Given the description of an element on the screen output the (x, y) to click on. 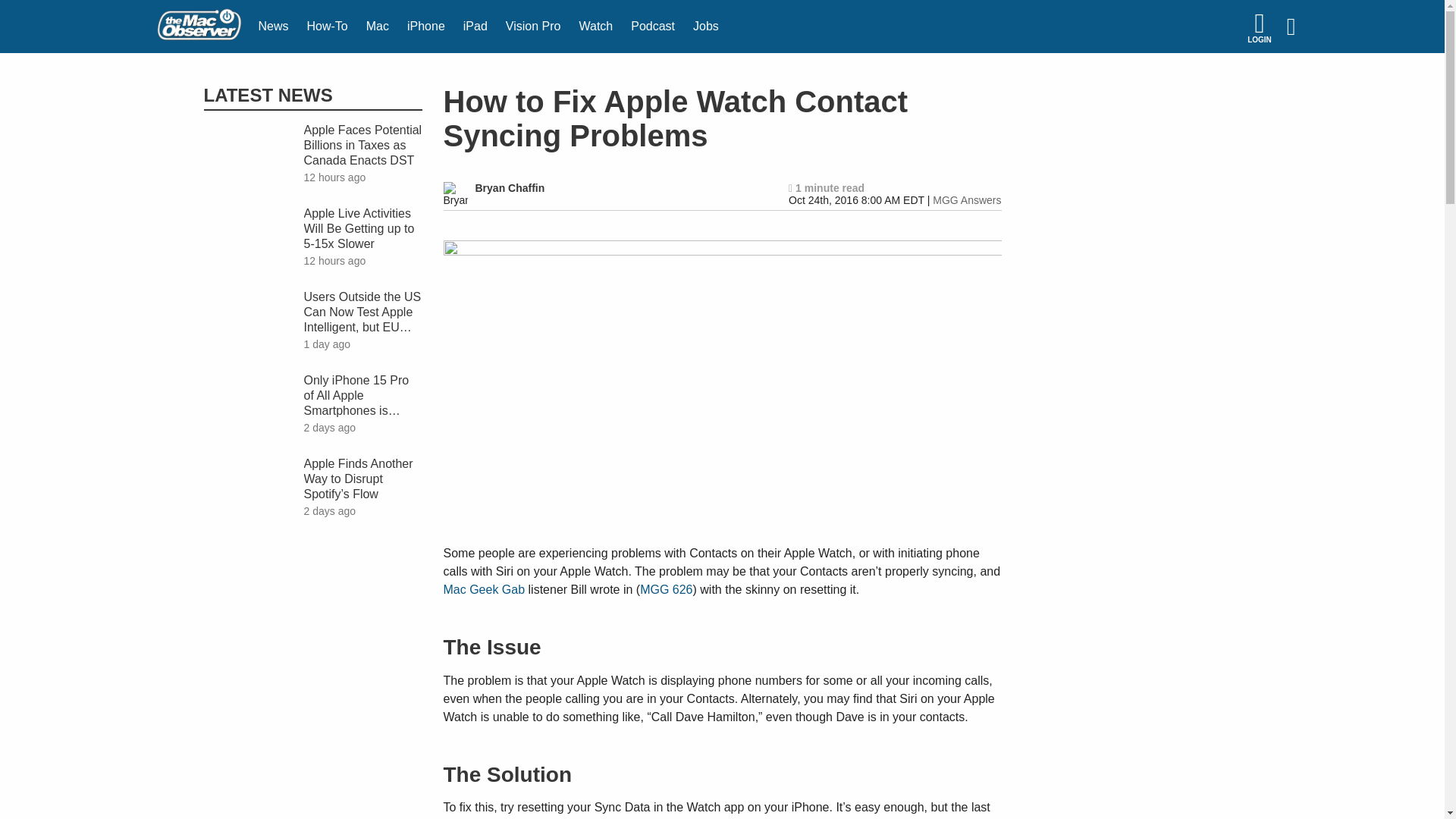
Podcast (652, 26)
MGG 626 (666, 589)
News (272, 26)
Vision Pro (533, 26)
Watch (595, 26)
Apple Live Activities Will Be Getting up to 5-15x Slower (362, 228)
